Given the description of an element on the screen output the (x, y) to click on. 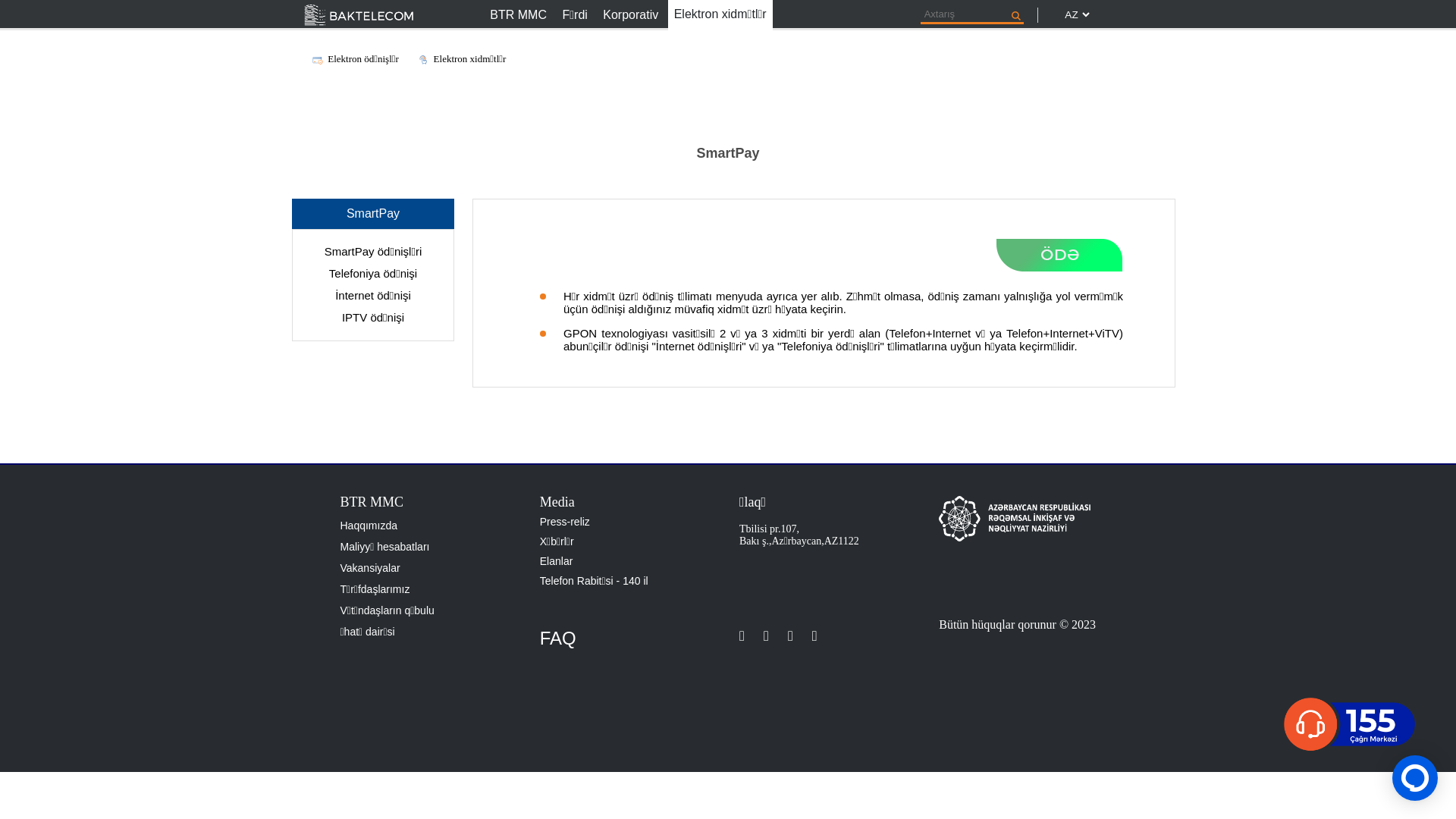
Vakansiyalar Element type: text (427, 567)
Elanlar Element type: text (627, 561)
Korporativ Element type: text (630, 14)
Press-reliz Element type: text (627, 521)
FAQ Element type: text (627, 638)
Submit Element type: text (1015, 15)
BTR MMC Element type: text (517, 14)
